Given the description of an element on the screen output the (x, y) to click on. 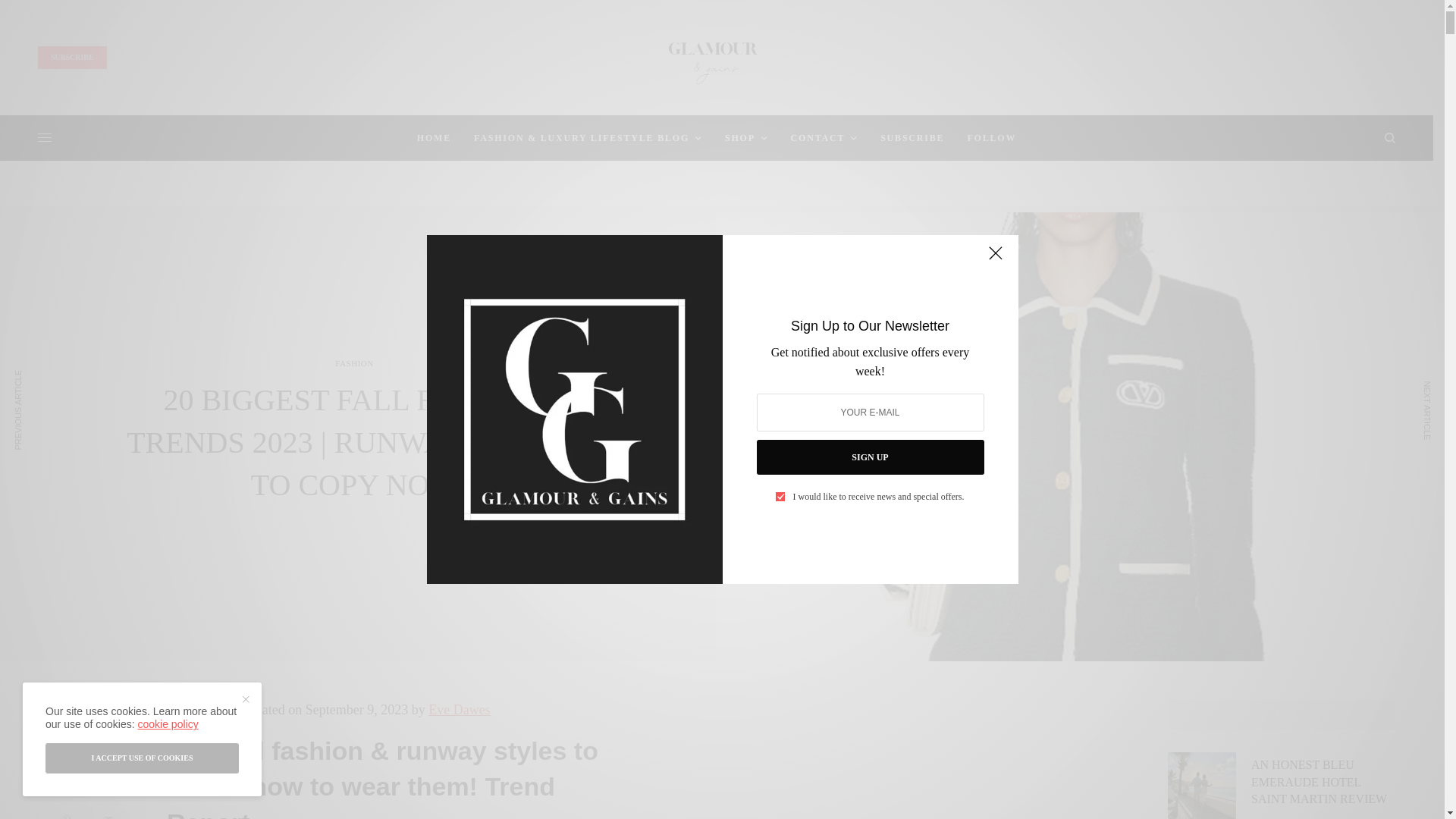
SIGN UP (870, 457)
HOME (433, 137)
EVE DAWES (86, 702)
SUBSCRIBE (911, 137)
An Honest Bleu Emeraude Hotel Saint Martin Review (1322, 781)
Glamour and Gains (716, 61)
CONTACT (824, 137)
FASHION (354, 363)
SUBSCRIBE (71, 56)
SHOP (746, 137)
FOLLOW (991, 137)
